Given the description of an element on the screen output the (x, y) to click on. 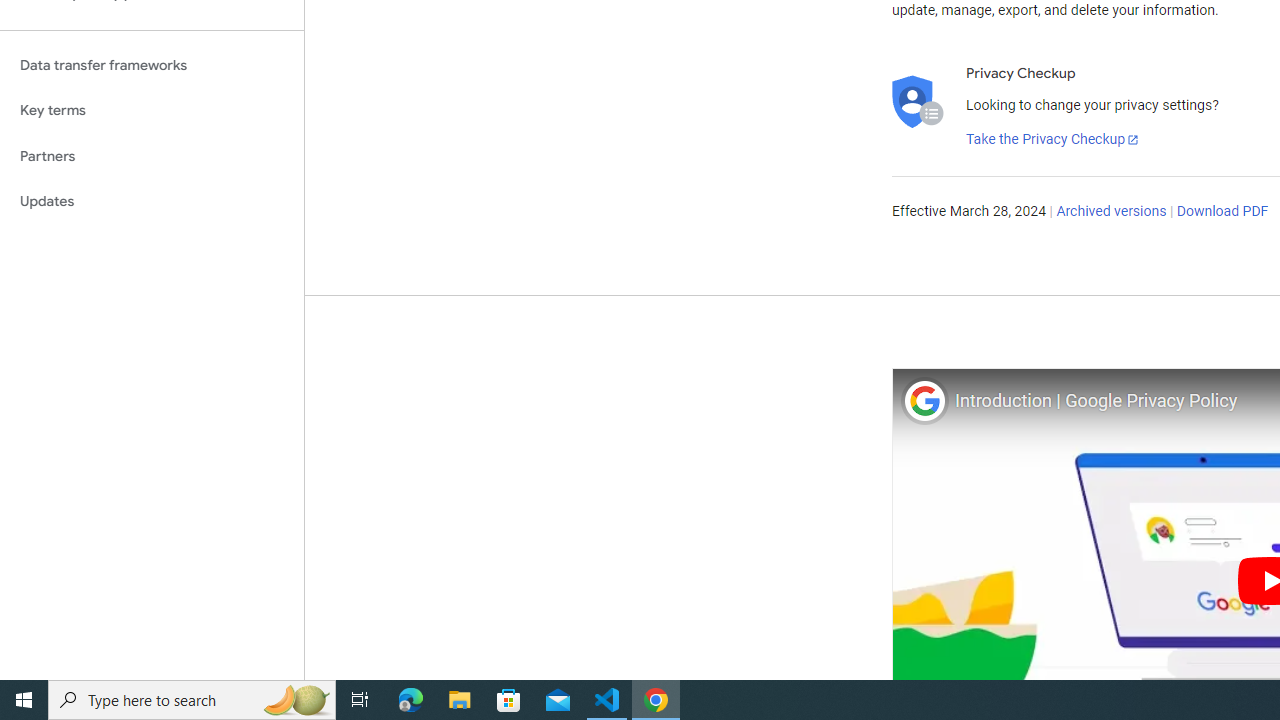
Download PDF (1222, 212)
Partners (152, 156)
Key terms (152, 110)
Archived versions (1111, 212)
Take the Privacy Checkup (1053, 140)
Photo image of Google (924, 400)
Data transfer frameworks (152, 65)
